Given the description of an element on the screen output the (x, y) to click on. 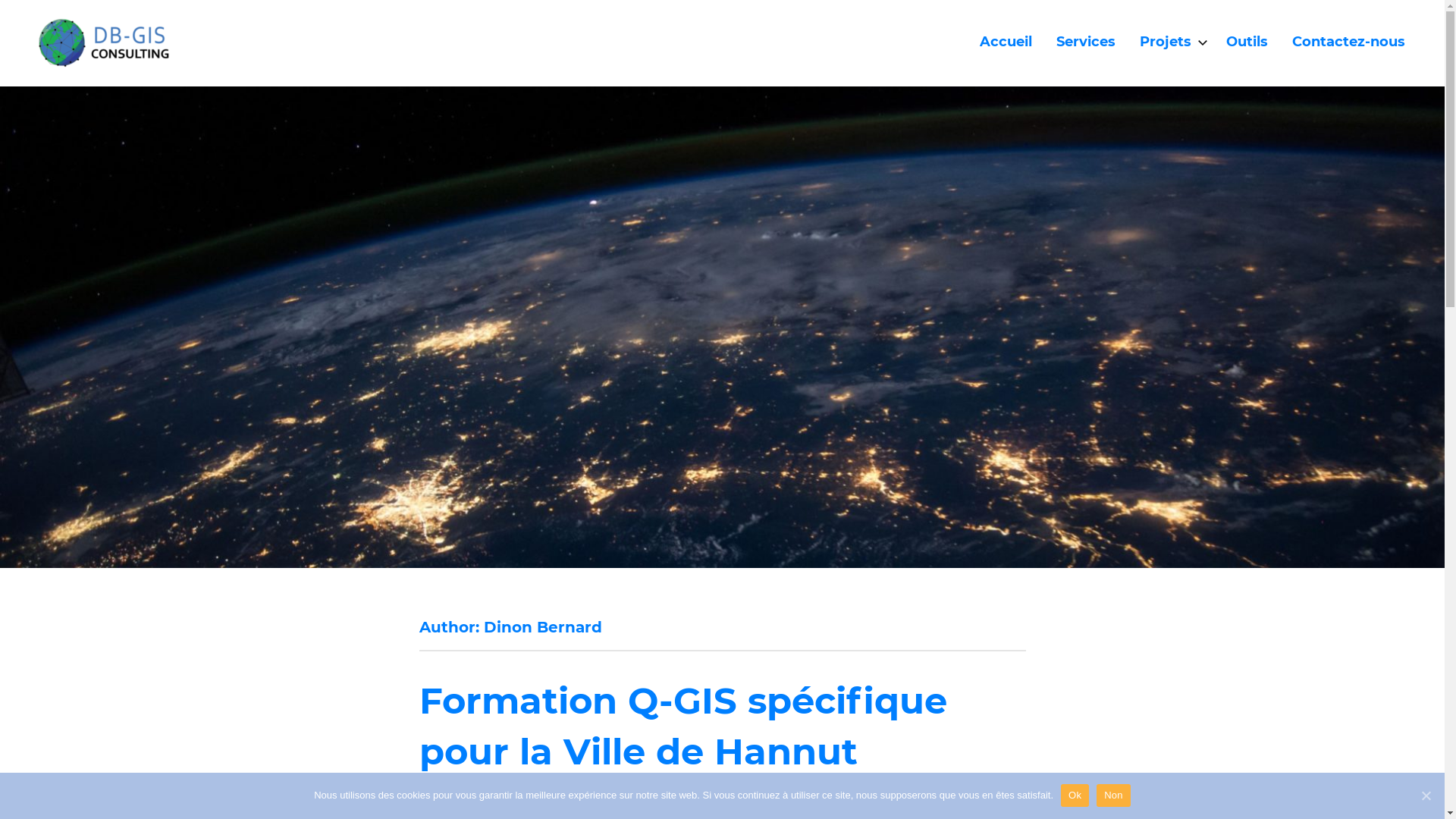
Outils Element type: text (1246, 43)
Non Element type: text (1113, 795)
Projets Element type: text (1170, 43)
Ok Element type: text (1074, 795)
Services Element type: text (1085, 43)
Contactez-nous Element type: text (1348, 43)
Skip to content Element type: text (0, 0)
Accueil Element type: text (1005, 43)
Projets Element type: text (624, 792)
23 August 2021 Element type: text (535, 792)
